Given the description of an element on the screen output the (x, y) to click on. 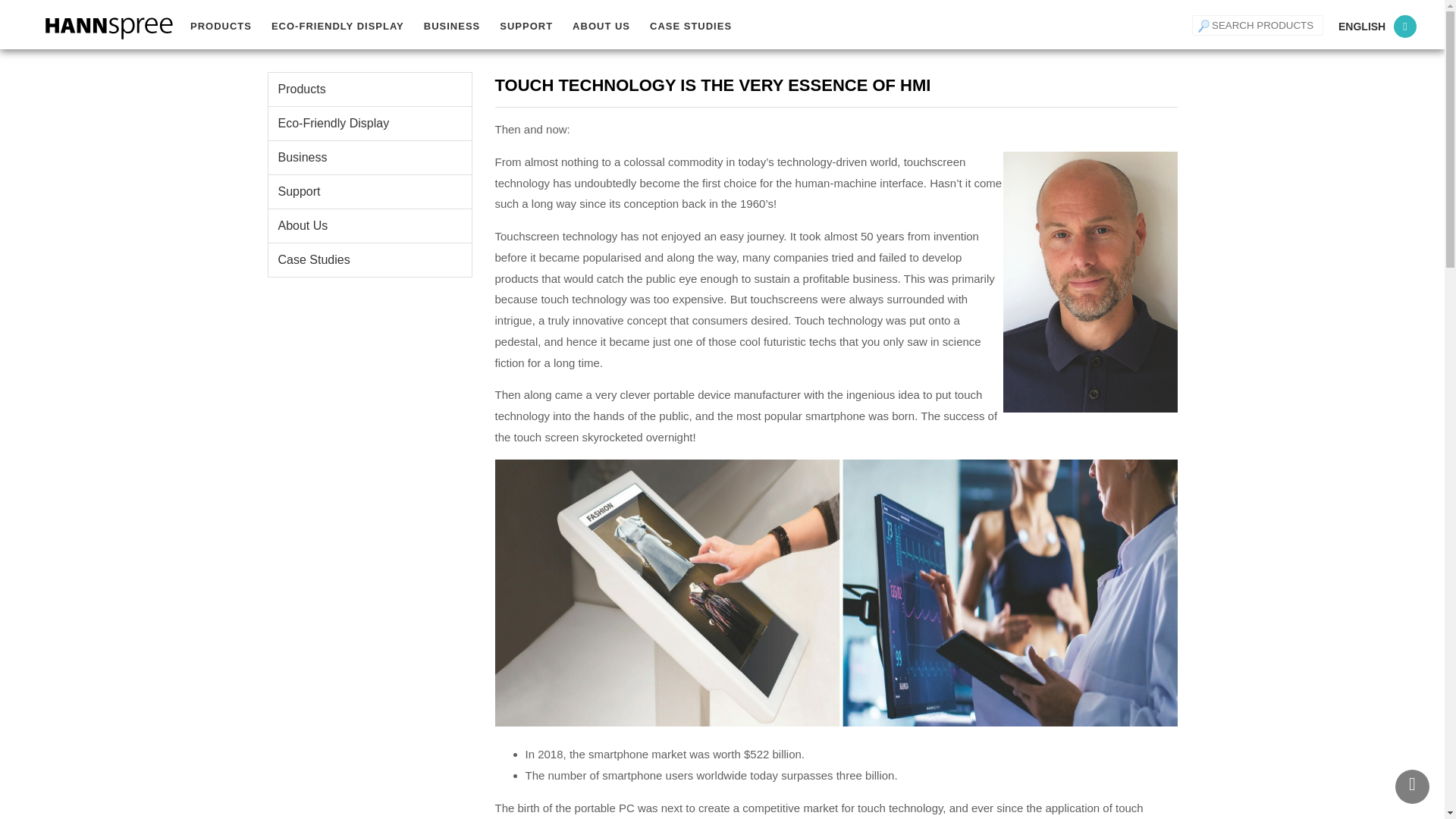
About Us (601, 26)
linkedin (1404, 26)
Eco-Friendly Display (337, 26)
Business (451, 26)
Support (525, 26)
Products (221, 26)
Case Studies (690, 26)
